Given the description of an element on the screen output the (x, y) to click on. 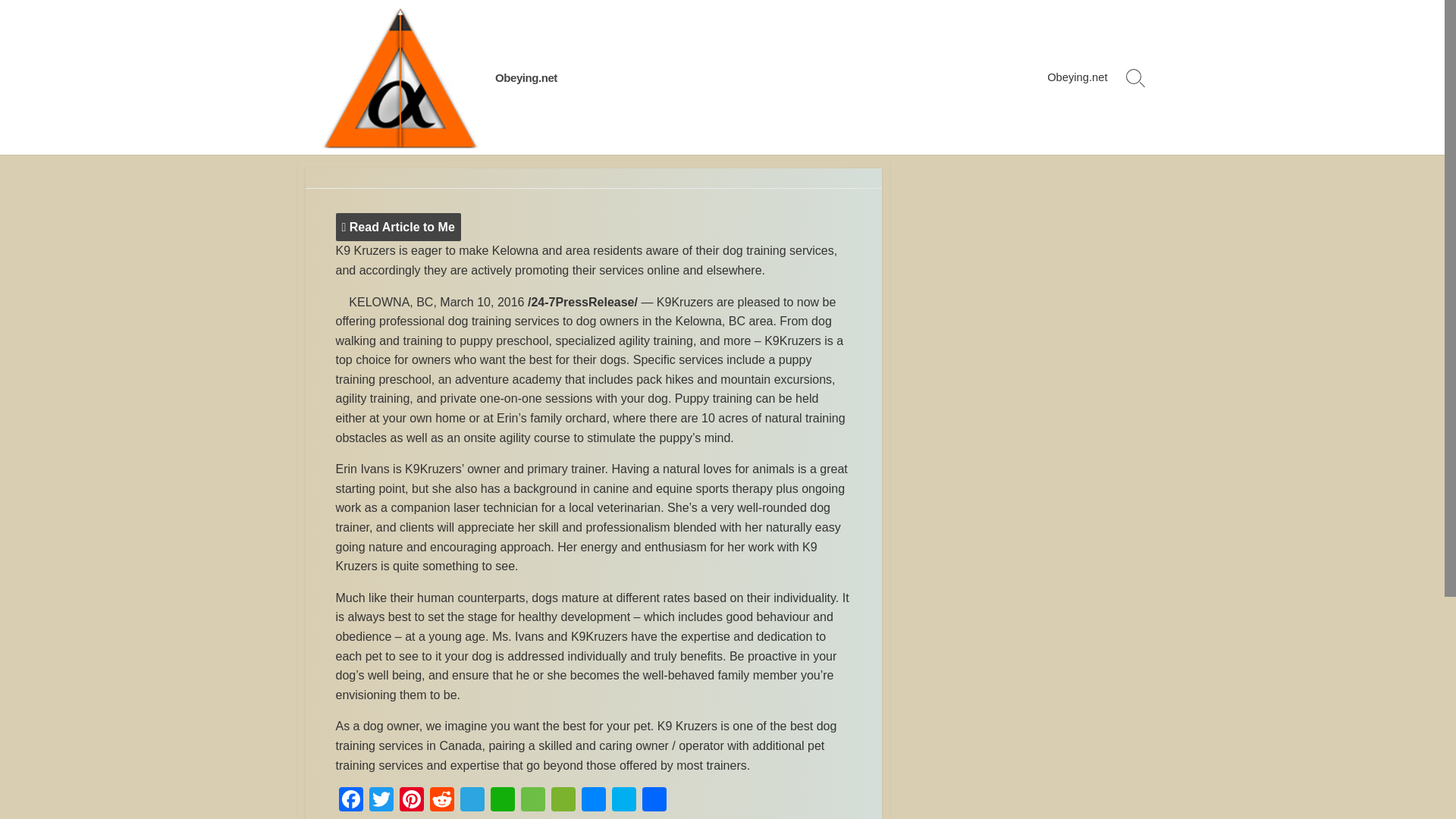
Twitter (380, 800)
Facebook (349, 800)
Obeying.net (526, 77)
Pinterest (411, 800)
Obeying.net (526, 77)
Facebook (349, 800)
Twitter (380, 800)
Obeying.net (399, 77)
Reddit (441, 800)
Messenger (593, 800)
